Given the description of an element on the screen output the (x, y) to click on. 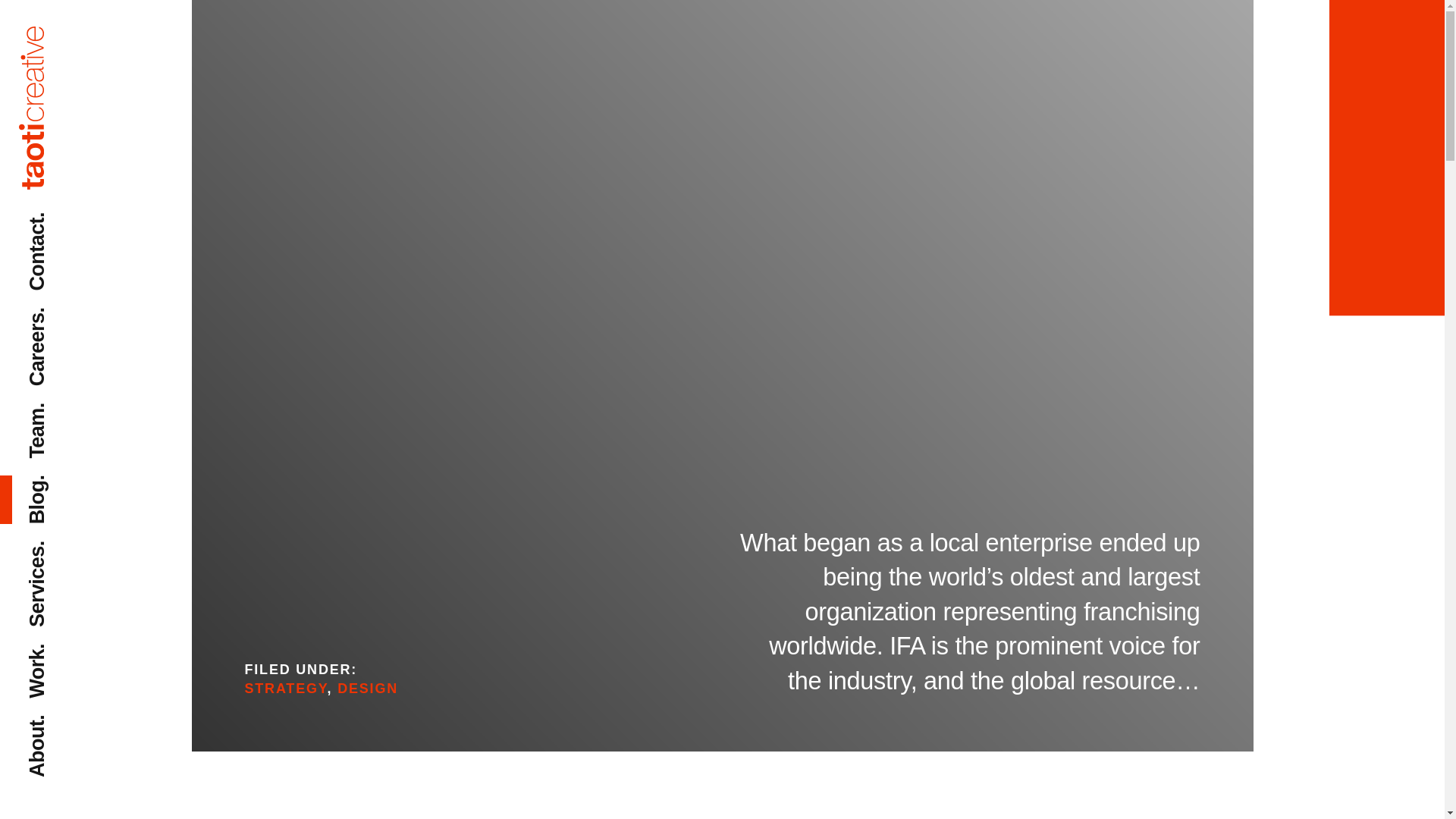
DESIGN (367, 688)
Services. (70, 550)
Blog. (52, 485)
STRATEGY (285, 688)
Work. (54, 653)
About. (57, 724)
Team. (54, 412)
Contact. (66, 222)
Careers. (66, 317)
